Given the description of an element on the screen output the (x, y) to click on. 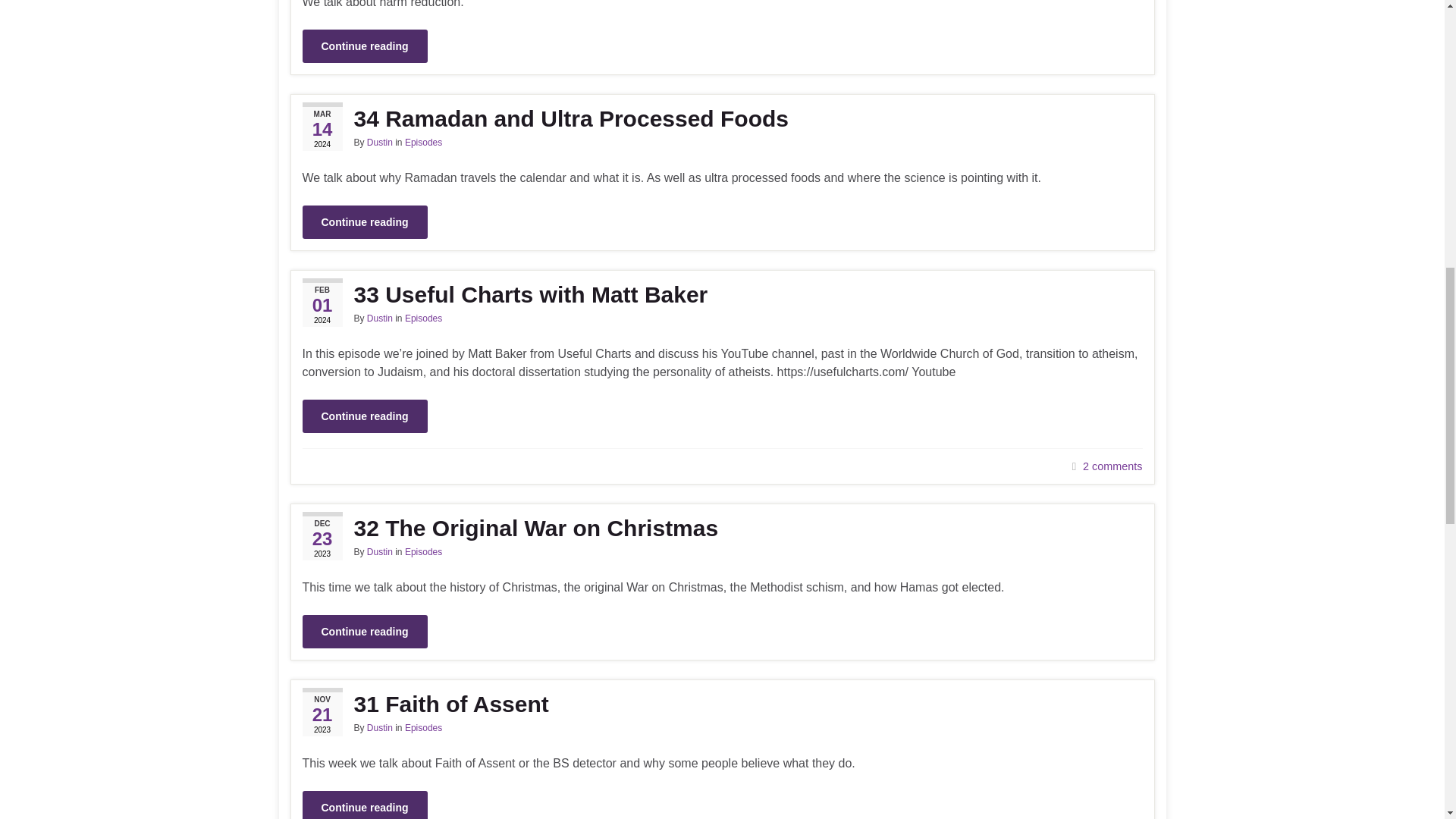
Permalink to 32 The Original War on Christmas (721, 528)
Episodes (423, 552)
Dustin (379, 317)
32 The Original War on Christmas (721, 528)
Continue reading (363, 46)
Continue reading (363, 416)
31 Faith of Assent (721, 704)
Continue reading (363, 222)
Episodes (423, 317)
33 Useful Charts with Matt Baker (721, 294)
Dustin (379, 552)
Episodes (423, 142)
Dustin (379, 727)
34 Ramadan and Ultra Processed Foods (721, 118)
2 comments (1112, 466)
